Given the description of an element on the screen output the (x, y) to click on. 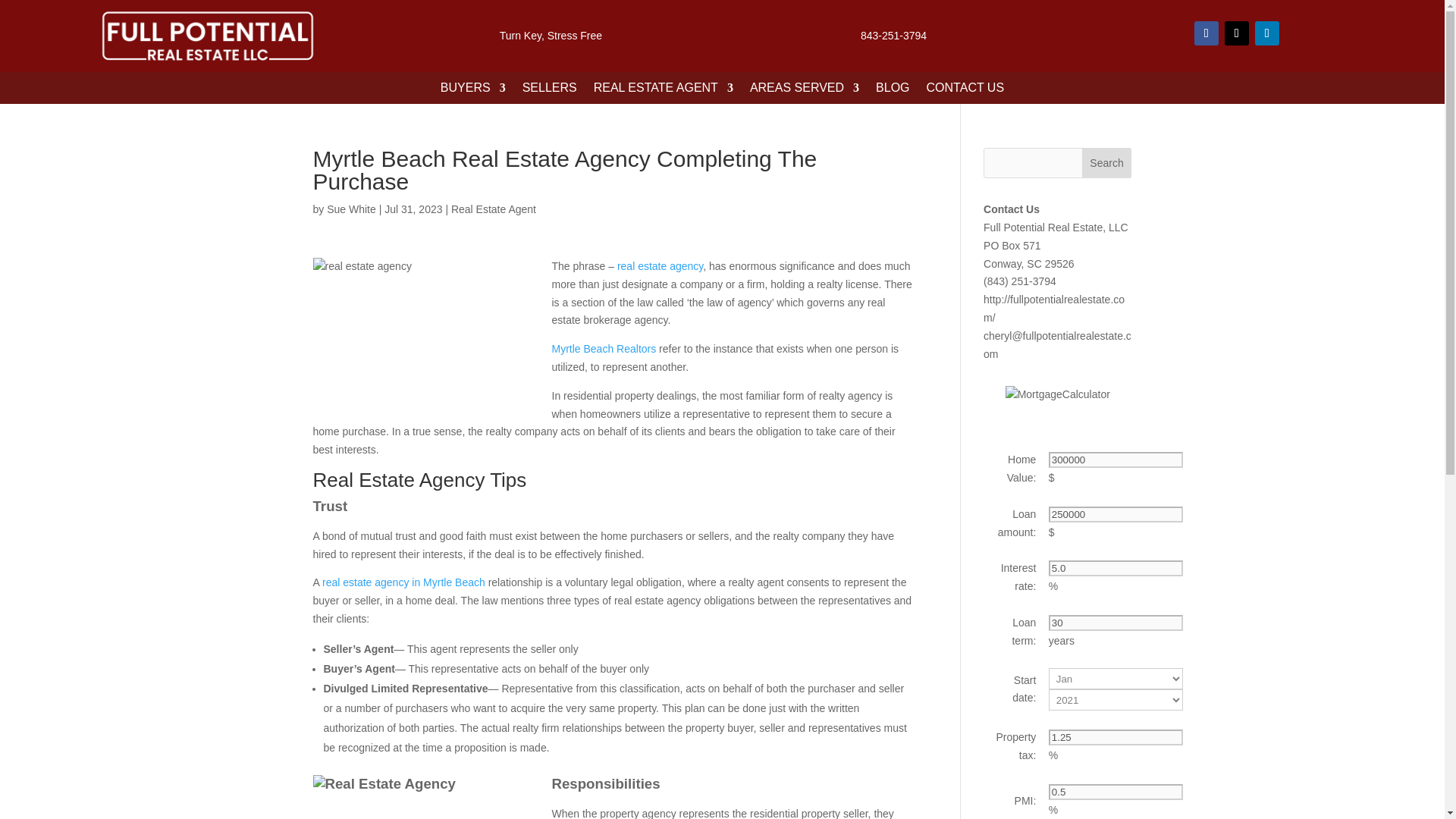
0.5 (1115, 791)
300000 (1115, 459)
Follow on LinkedIn (1267, 33)
real estate agency - Full Potential Real Estate (426, 333)
5.0 (1115, 568)
BUYERS (473, 90)
250000 (1115, 514)
30 (1115, 622)
Posts by Sue White (350, 209)
Follow on X (1236, 33)
